Given the description of an element on the screen output the (x, y) to click on. 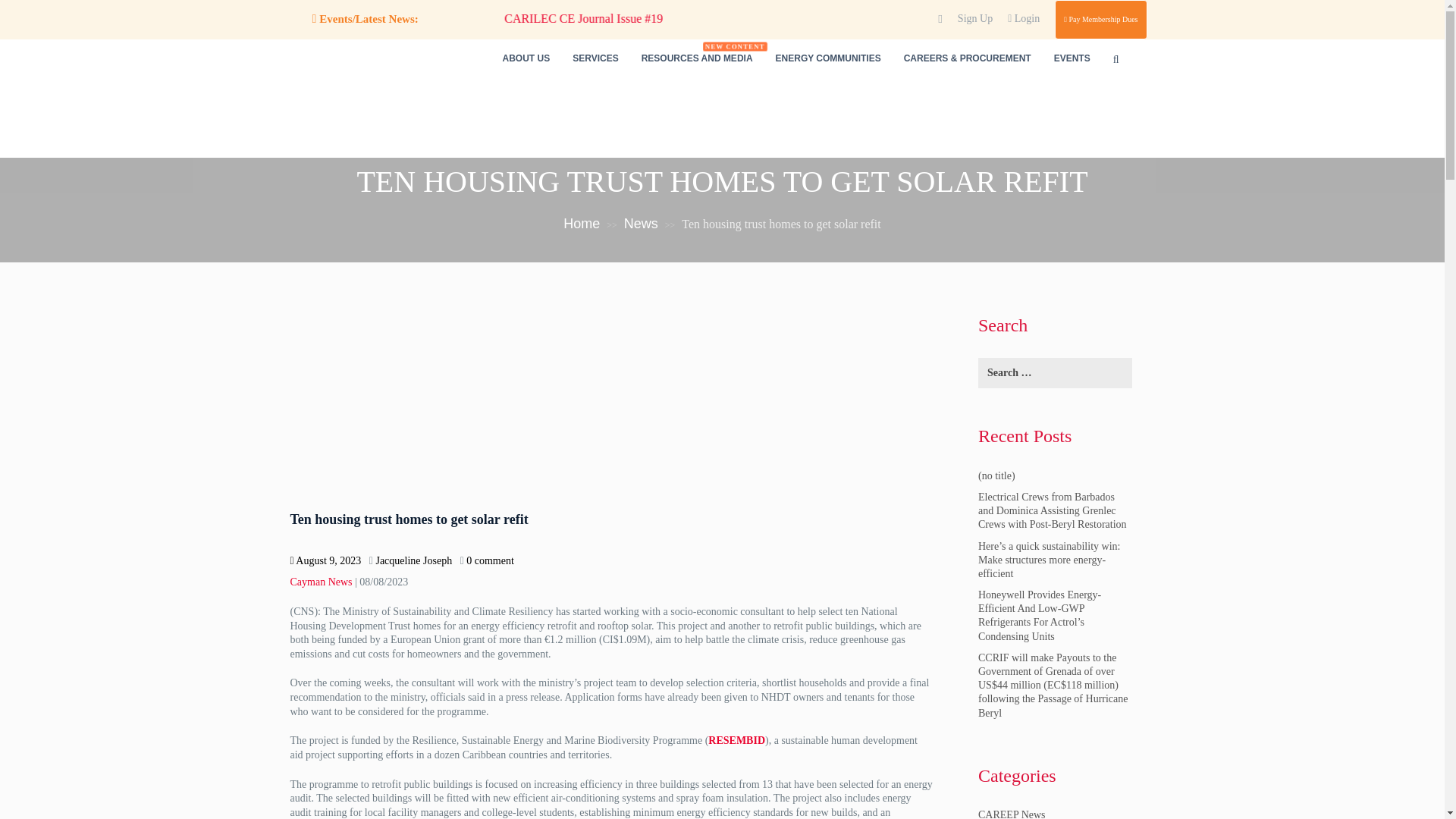
Sign Up (975, 18)
Login (1023, 18)
ENERGY COMMUNITIES (828, 58)
CARILEC (350, 112)
EVENTS (1072, 58)
ABOUT US (527, 58)
SERVICES (594, 58)
Posts by Cayman News (320, 582)
RESOURCES AND MEDIA (697, 58)
Pay Membership Dues (1100, 19)
